Given the description of an element on the screen output the (x, y) to click on. 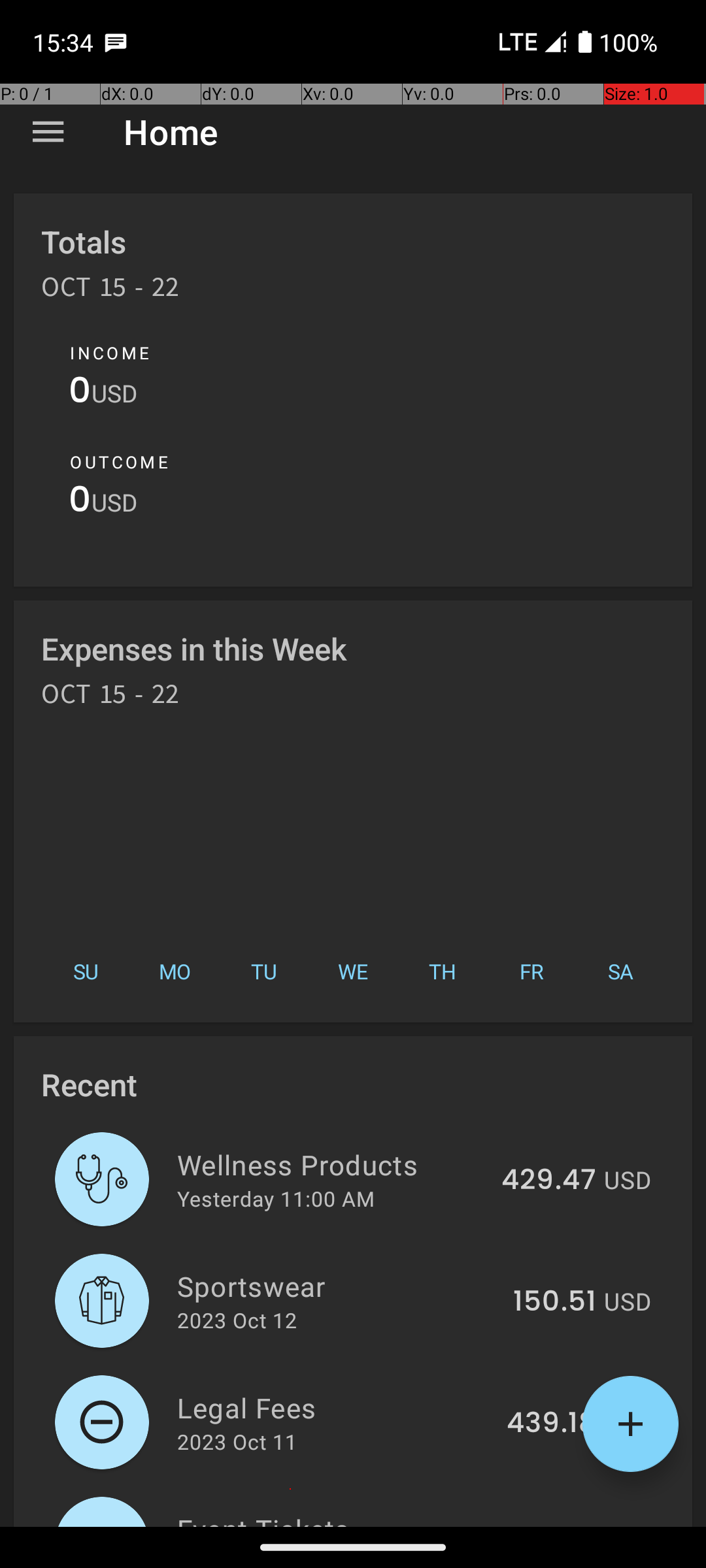
Wellness Products Element type: android.widget.TextView (331, 1164)
Yesterday 11:00 AM Element type: android.widget.TextView (275, 1198)
429.47 Element type: android.widget.TextView (548, 1180)
Sportswear Element type: android.widget.TextView (337, 1285)
150.51 Element type: android.widget.TextView (554, 1301)
Legal Fees Element type: android.widget.TextView (334, 1407)
439.18 Element type: android.widget.TextView (550, 1423)
Event Tickets Element type: android.widget.TextView (331, 1518)
487.53 Element type: android.widget.TextView (548, 1524)
